Given the description of an element on the screen output the (x, y) to click on. 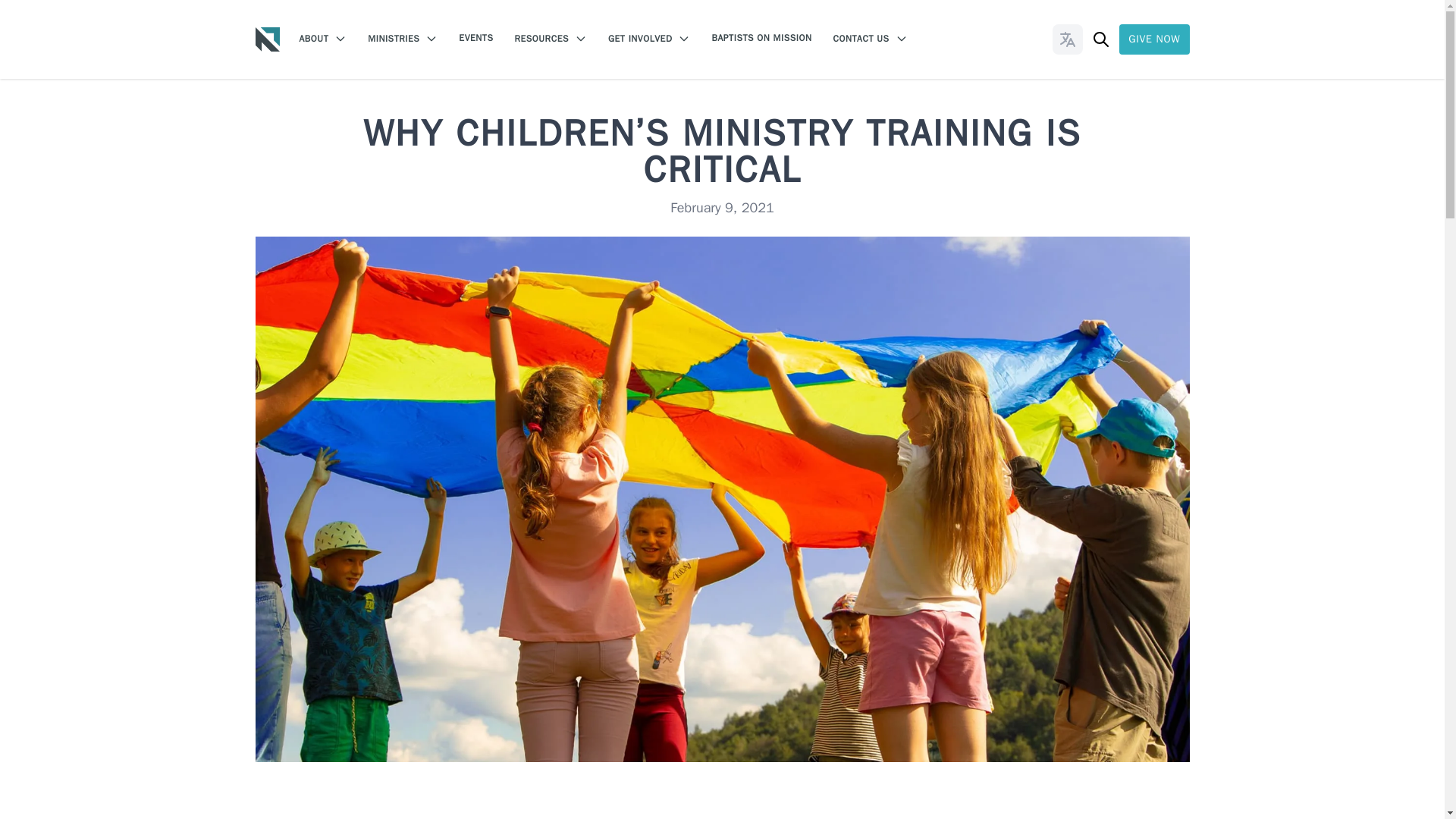
GET INVOLVED (649, 39)
RESOURCES (550, 39)
EVENTS (476, 38)
MINISTRIES (402, 39)
Baptist State Convention of North Carolina (266, 39)
ABOUT (322, 39)
